Given the description of an element on the screen output the (x, y) to click on. 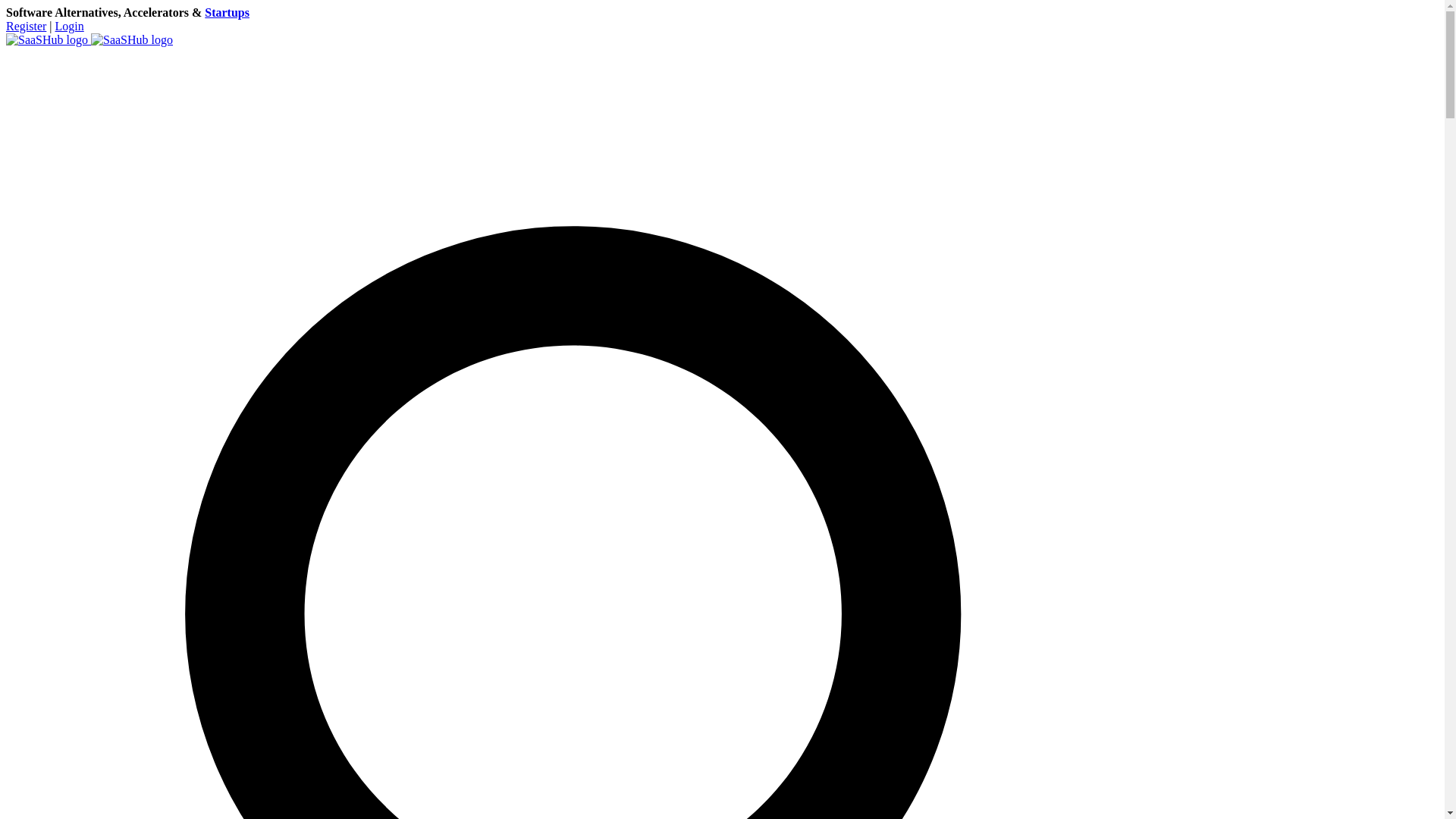
Login (69, 25)
Startups (226, 11)
Register (25, 25)
